Given the description of an element on the screen output the (x, y) to click on. 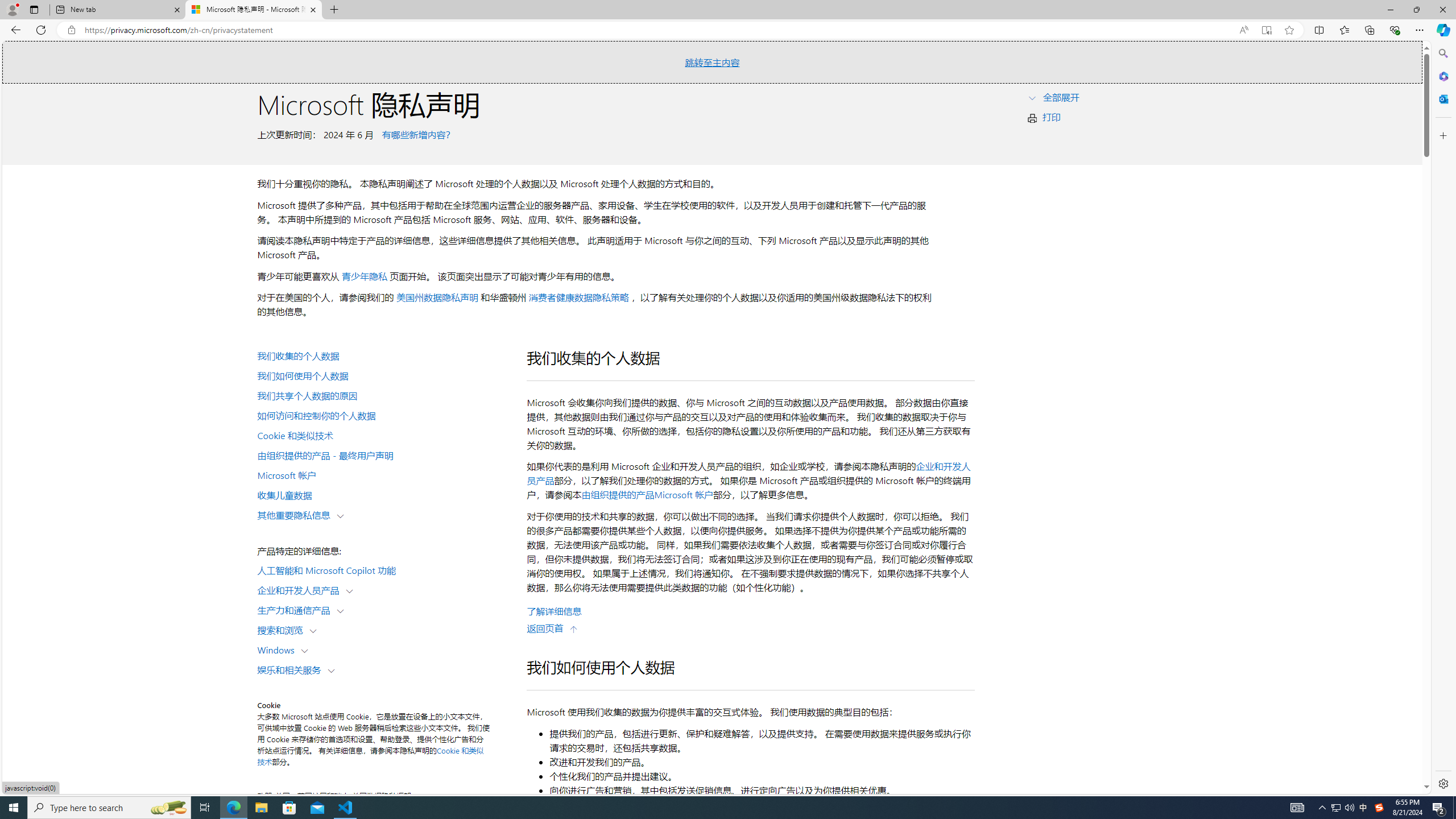
Windows (278, 649)
